Given the description of an element on the screen output the (x, y) to click on. 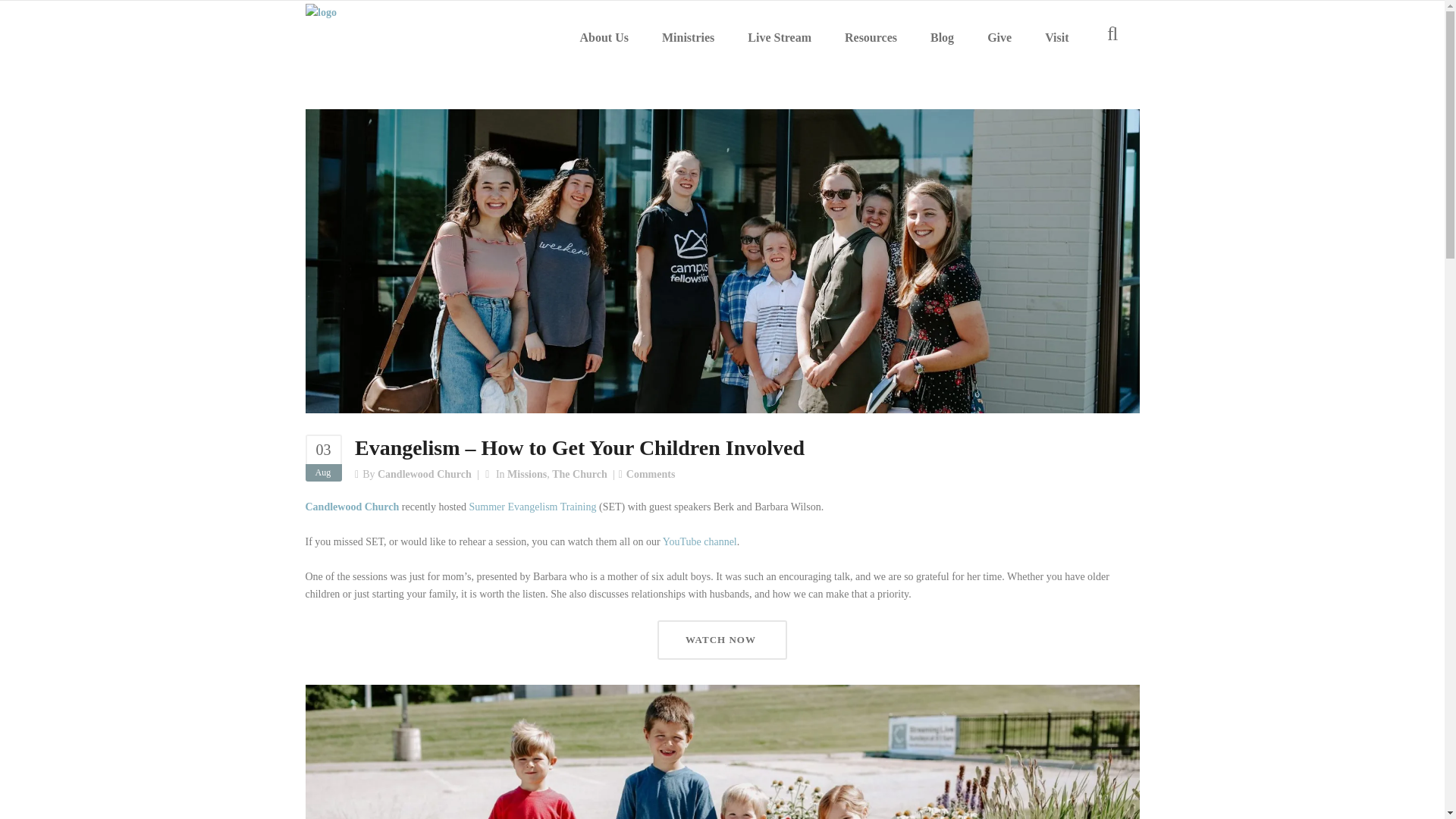
Resources (870, 38)
About Us (603, 38)
Ministries (687, 38)
Live Stream (779, 38)
